Given the description of an element on the screen output the (x, y) to click on. 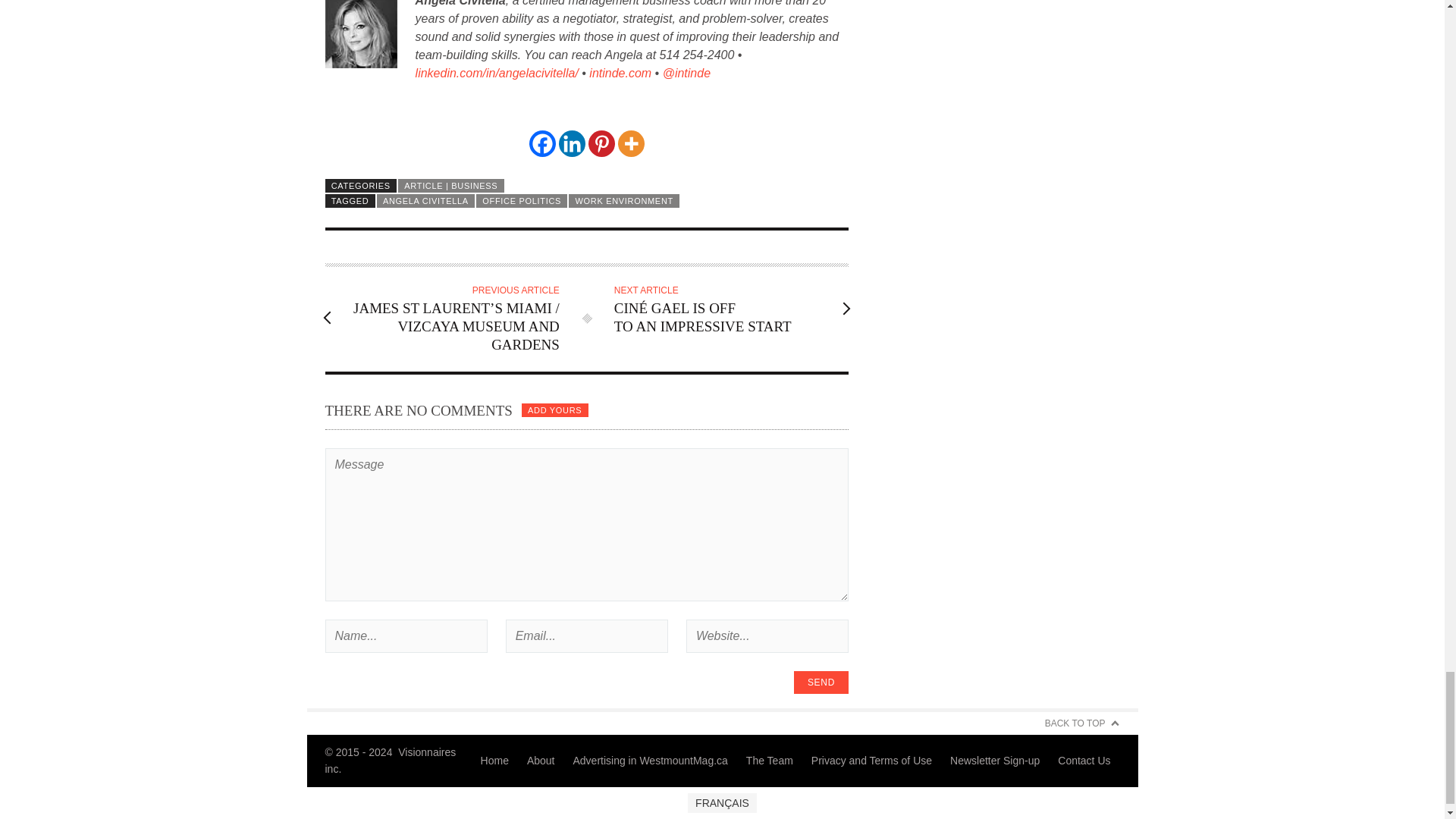
Send (820, 681)
More (631, 143)
Facebook (542, 143)
View all posts tagged office politics (521, 201)
Pinterest (601, 143)
View all posts tagged work environment (624, 201)
View all posts tagged Angela Civitella (425, 201)
Linkedin (572, 143)
